Given the description of an element on the screen output the (x, y) to click on. 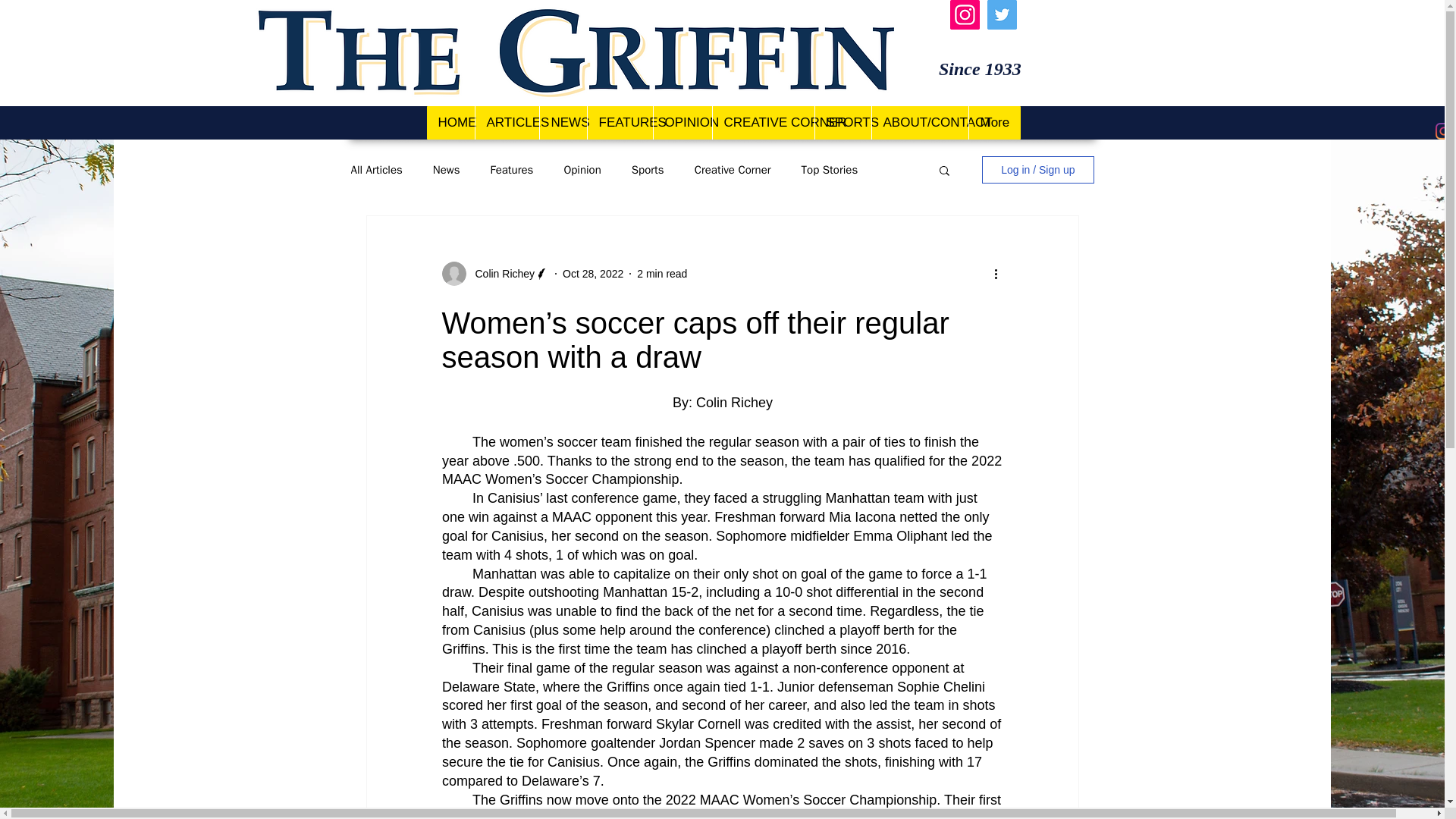
SPORTS (841, 122)
Oct 28, 2022 (592, 272)
CREATIVE CORNER (762, 122)
Colin Richey (499, 273)
Top Stories (830, 169)
ARTICLES (506, 122)
Opinion (581, 169)
FEATURES (619, 122)
News (446, 169)
Sports (647, 169)
2 min read (662, 272)
Creative Corner (732, 169)
All Articles (375, 169)
HOME (450, 122)
NEWS (562, 122)
